Given the description of an element on the screen output the (x, y) to click on. 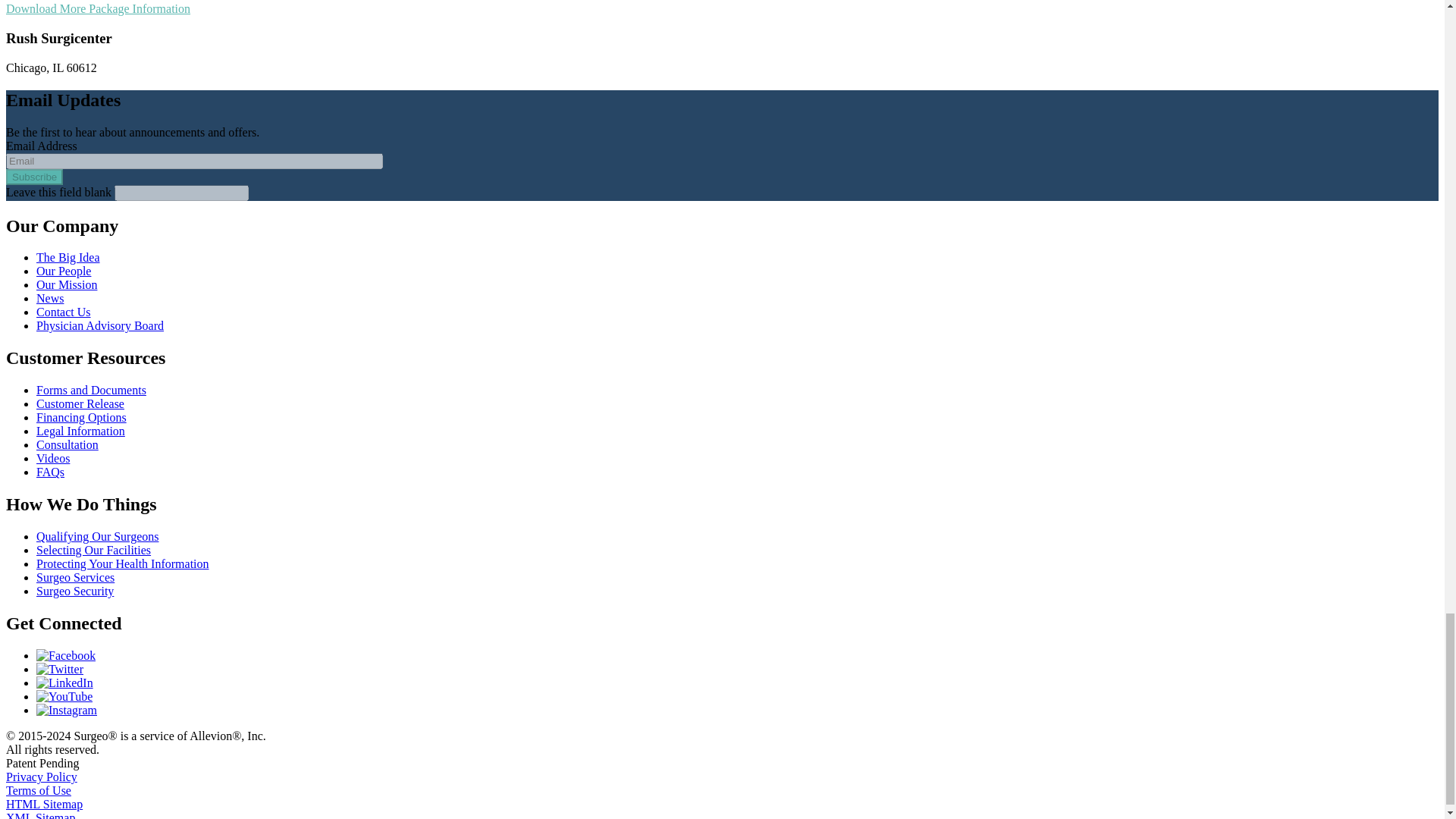
This field is required. (82, 159)
Subscribe (33, 176)
